Given the description of an element on the screen output the (x, y) to click on. 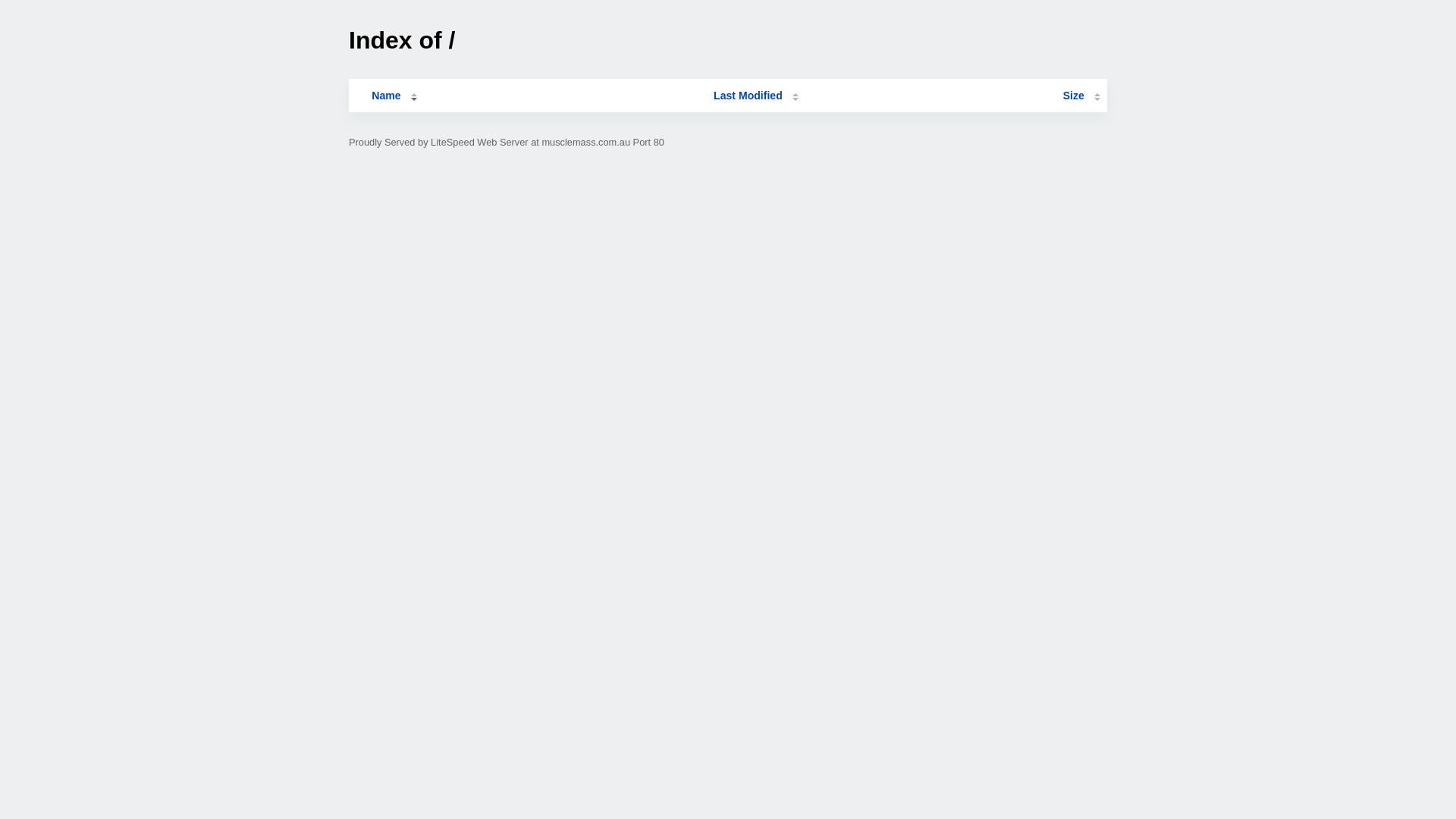
Last Modified Element type: text (755, 95)
Name Element type: text (385, 95)
Size Element type: text (1081, 95)
